Given the description of an element on the screen output the (x, y) to click on. 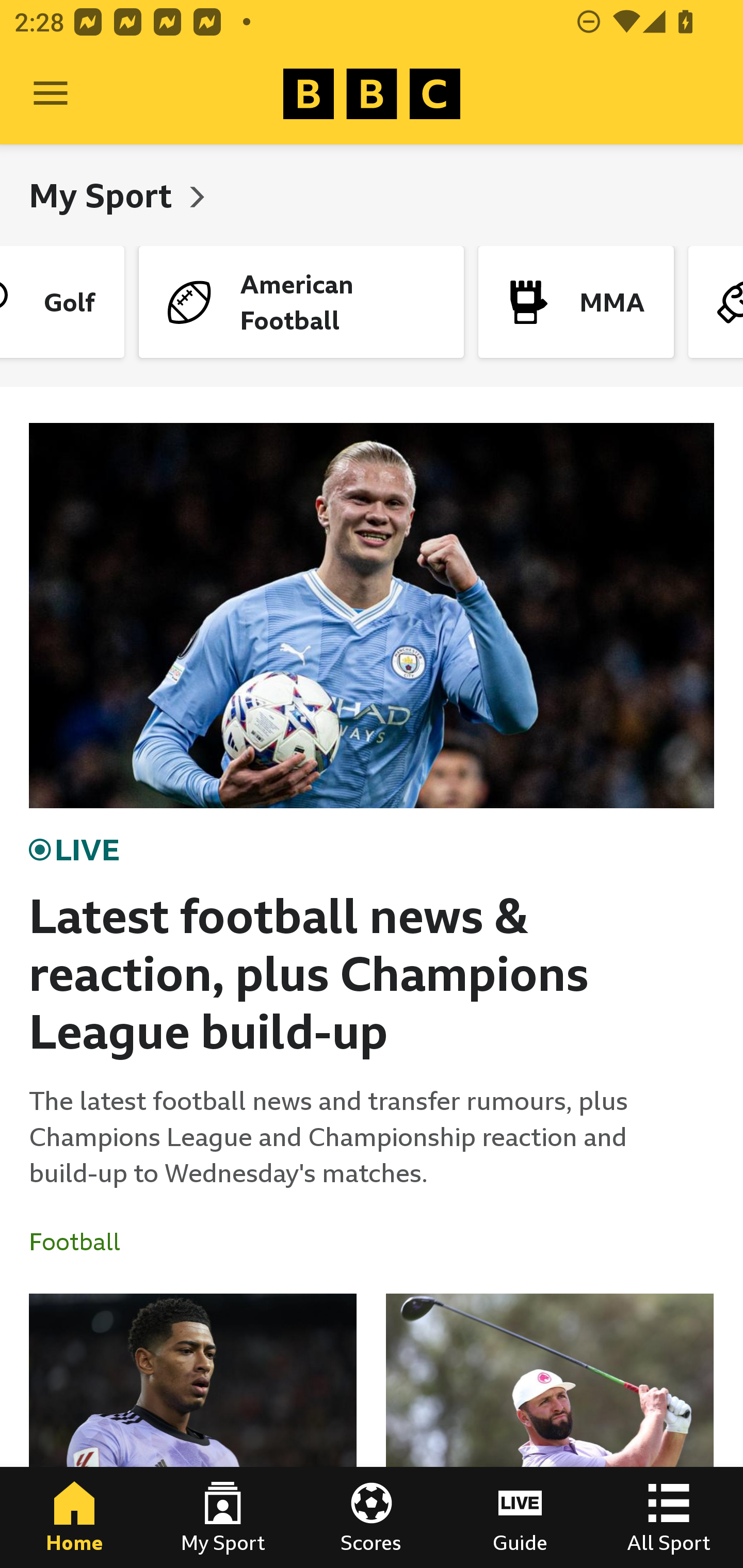
Open Menu (50, 93)
My Sport (104, 195)
Football In the section Football (81, 1241)
Real midfielder Bellingham banned for two games (192, 1430)
My Sport (222, 1517)
Scores (371, 1517)
Guide (519, 1517)
All Sport (668, 1517)
